Given the description of an element on the screen output the (x, y) to click on. 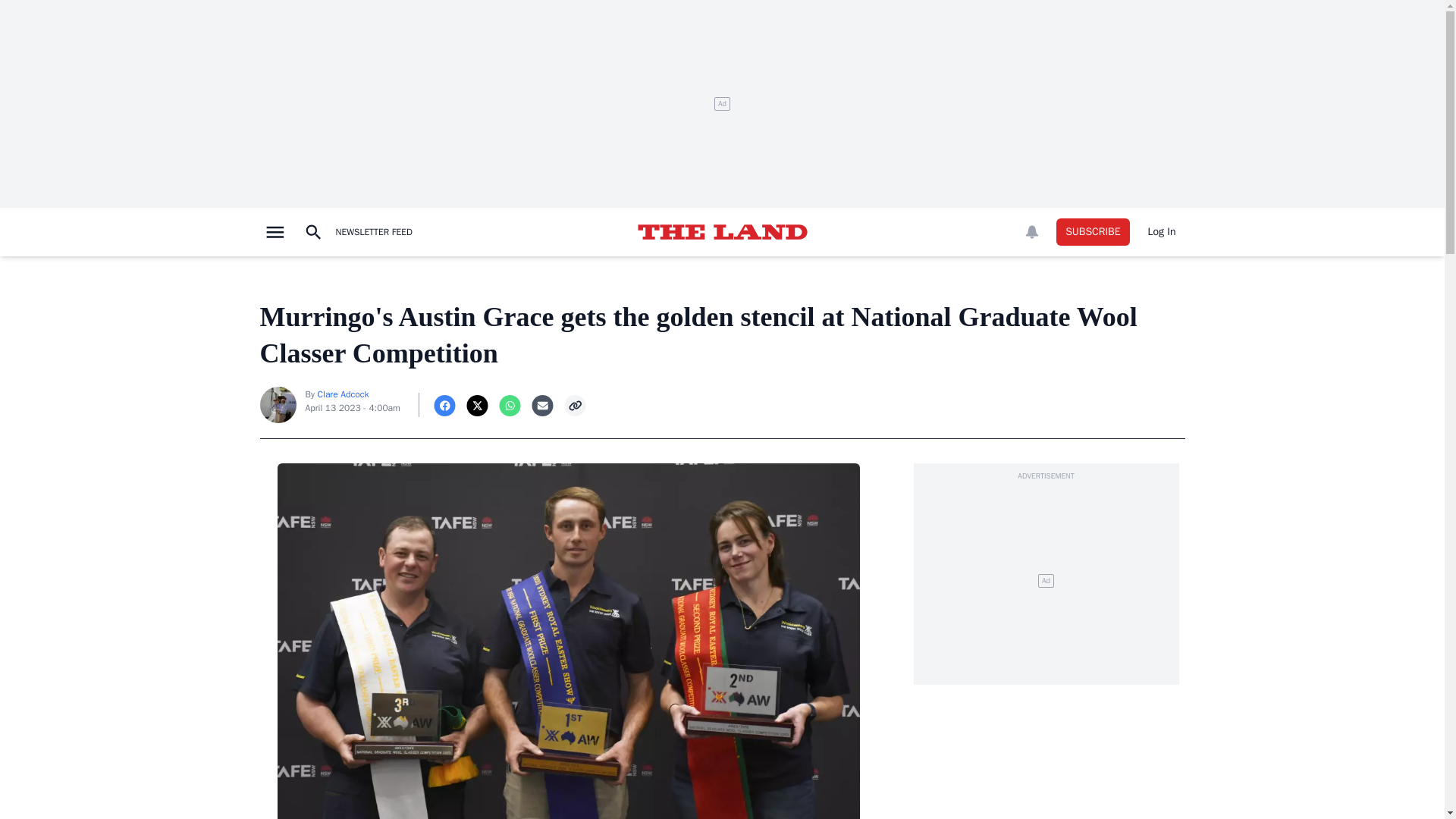
Log In (1161, 231)
SUBSCRIBE (1093, 231)
NEWSLETTER FEED (373, 232)
